Given the description of an element on the screen output the (x, y) to click on. 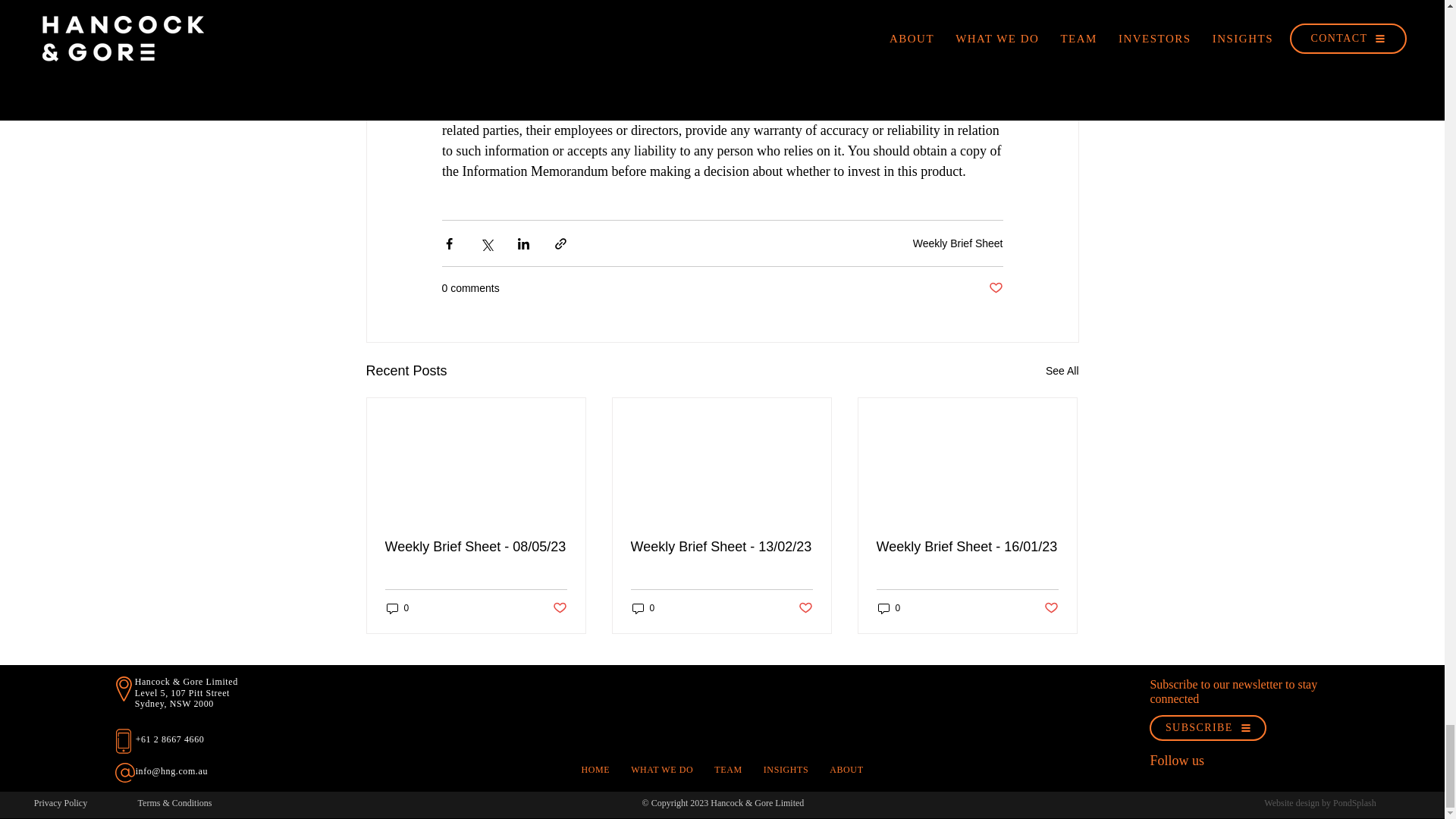
Weekly Brief Sheet (957, 243)
Post not marked as liked (804, 608)
0 (397, 608)
0 (643, 608)
See All (1061, 371)
Post not marked as liked (995, 288)
Post not marked as liked (558, 608)
